Given the description of an element on the screen output the (x, y) to click on. 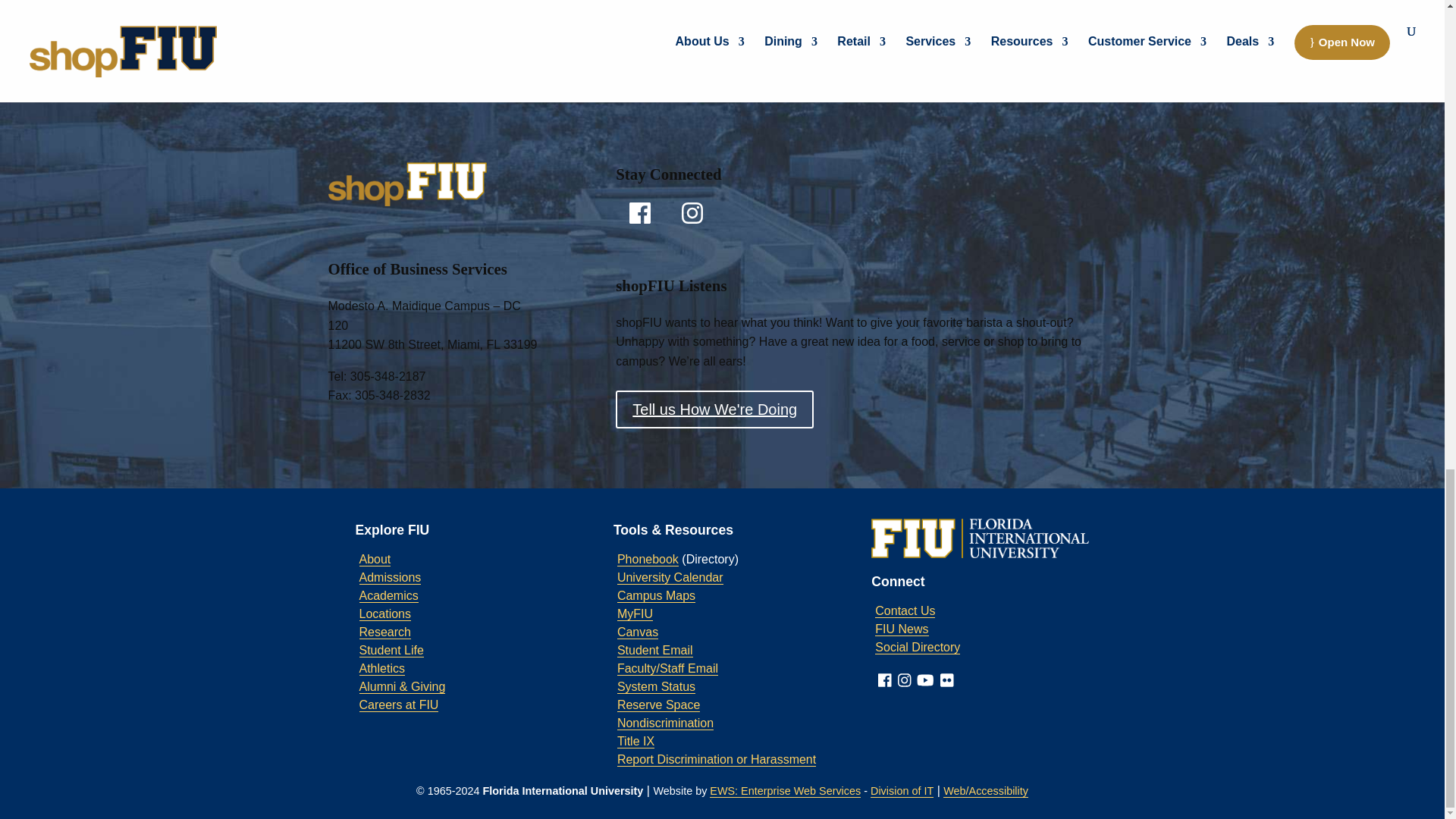
Division of Information Technology Website (901, 790)
Digital Interaction and Web Design Studio at FIU (785, 790)
